Given the description of an element on the screen output the (x, y) to click on. 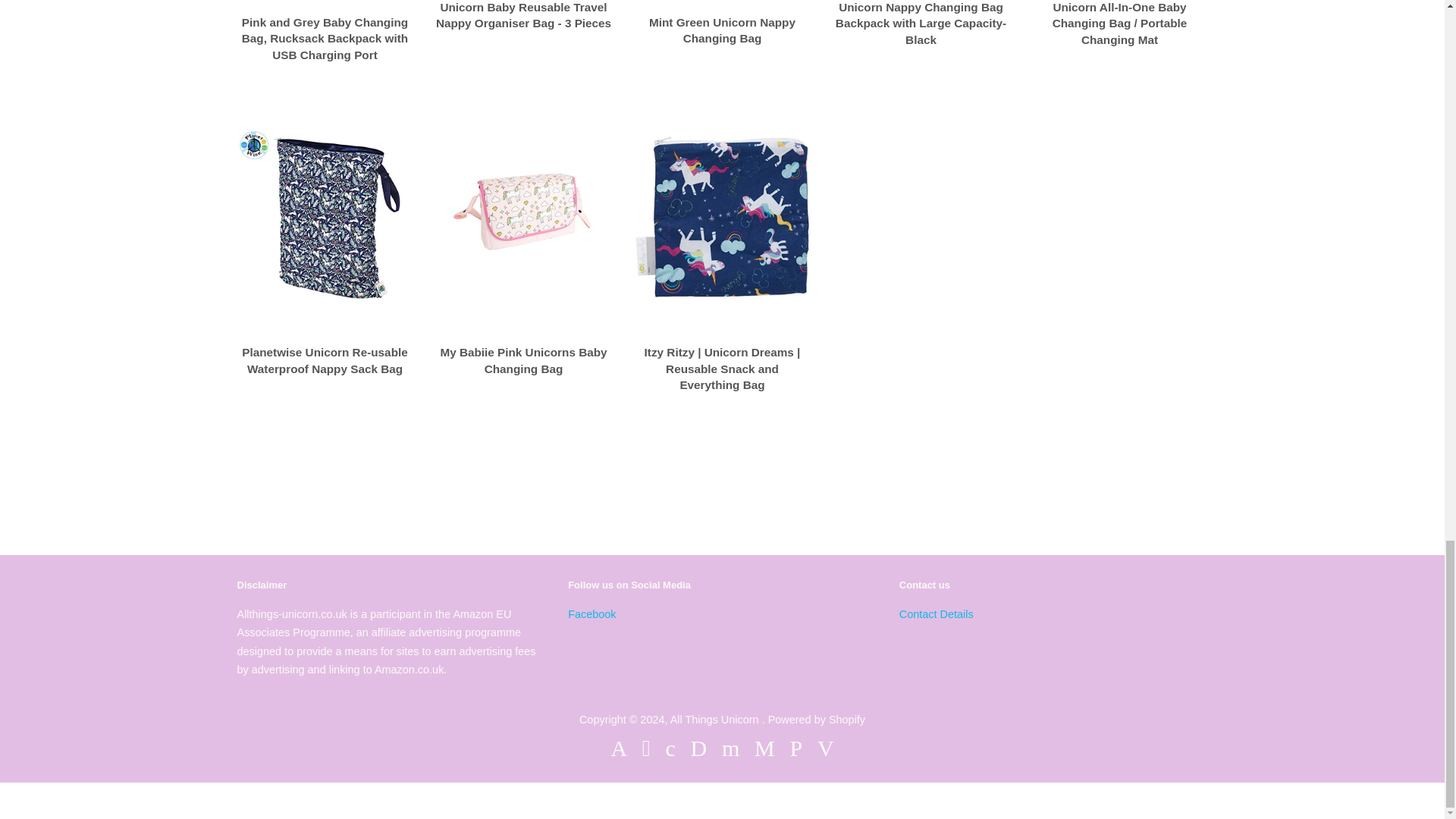
Contact Us (936, 613)
